Given the description of an element on the screen output the (x, y) to click on. 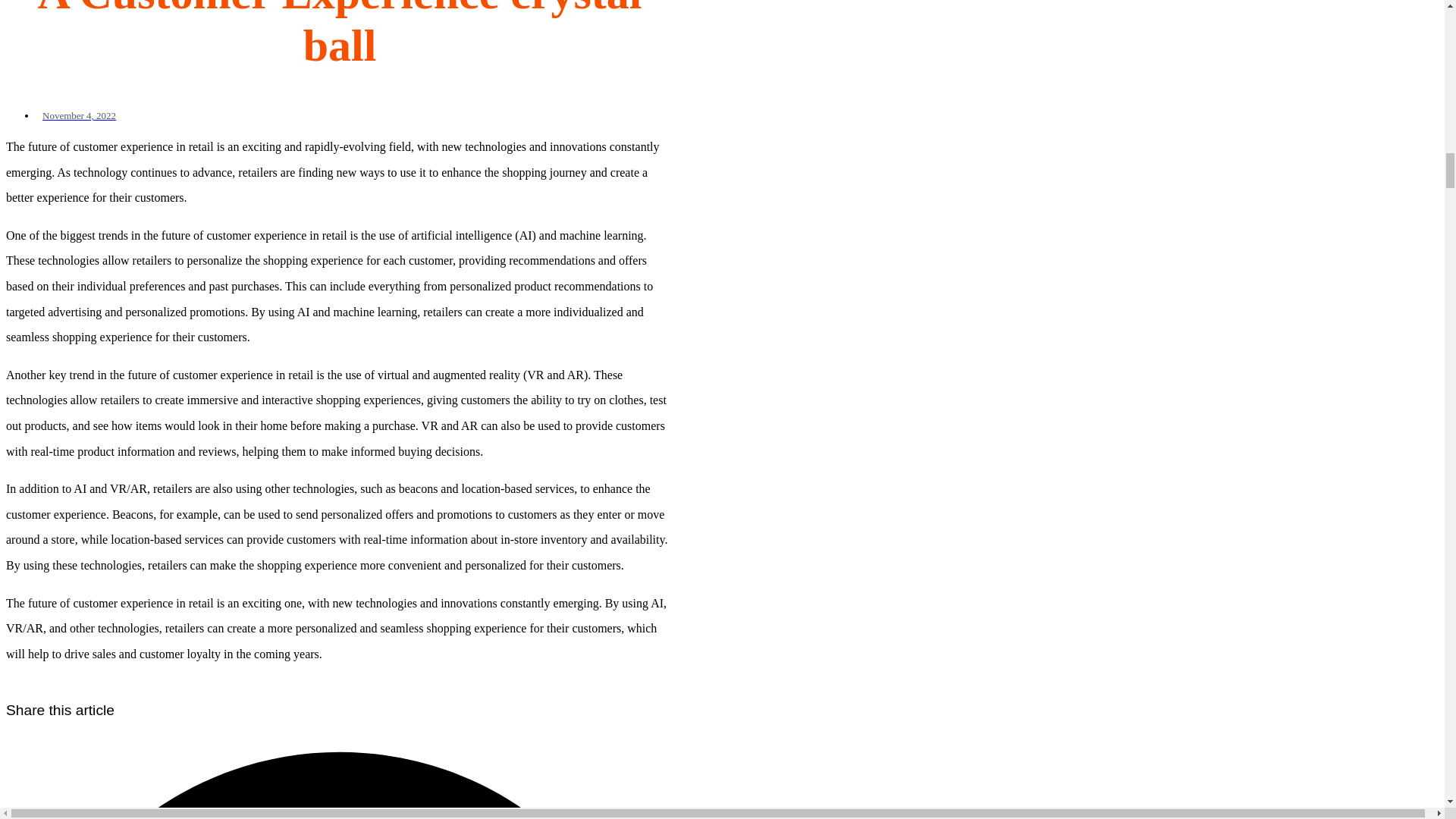
November 4, 2022 (76, 115)
